Given the description of an element on the screen output the (x, y) to click on. 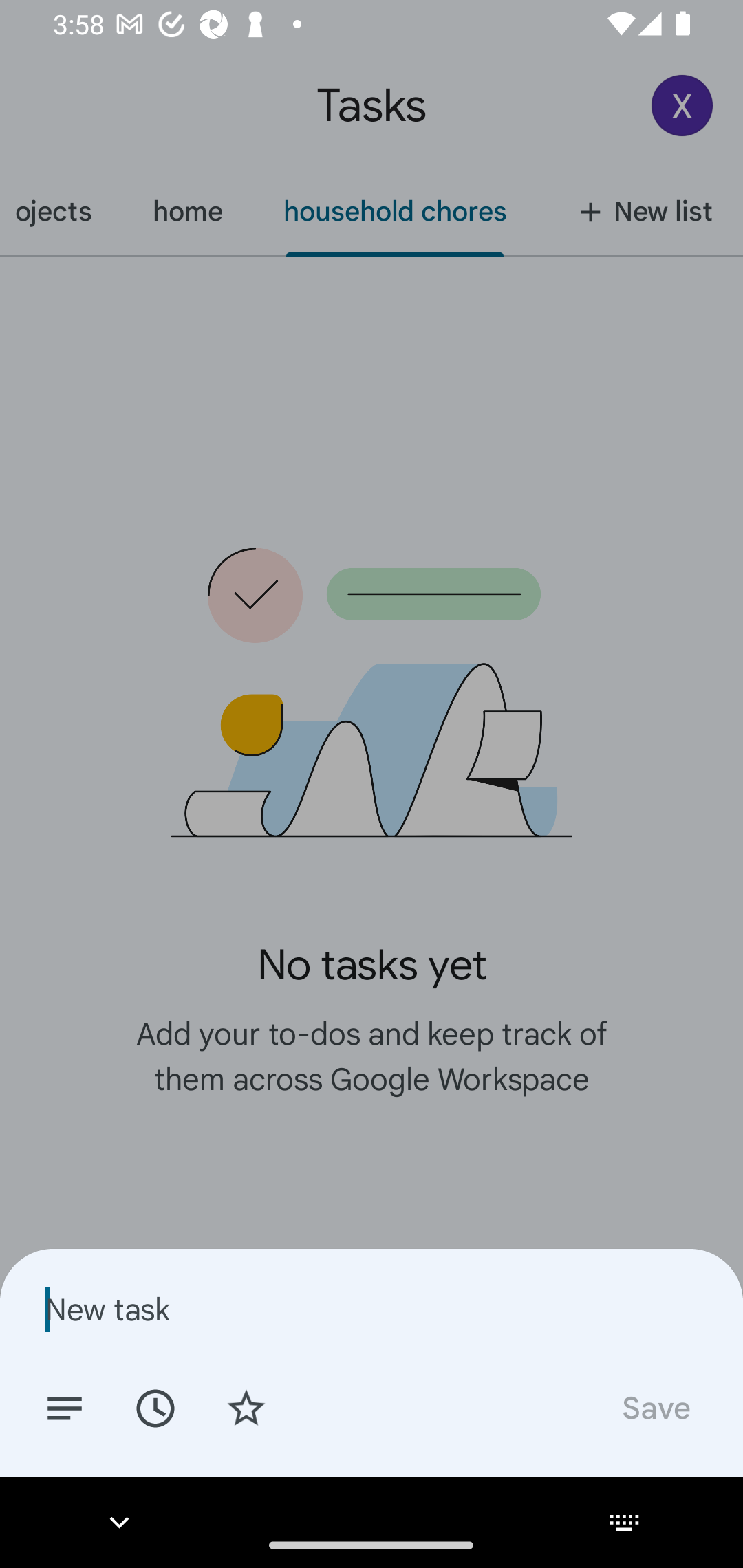
New task (371, 1308)
Save (655, 1407)
Add details (64, 1407)
Set date/time (154, 1407)
Add star (245, 1407)
